Given the description of an element on the screen output the (x, y) to click on. 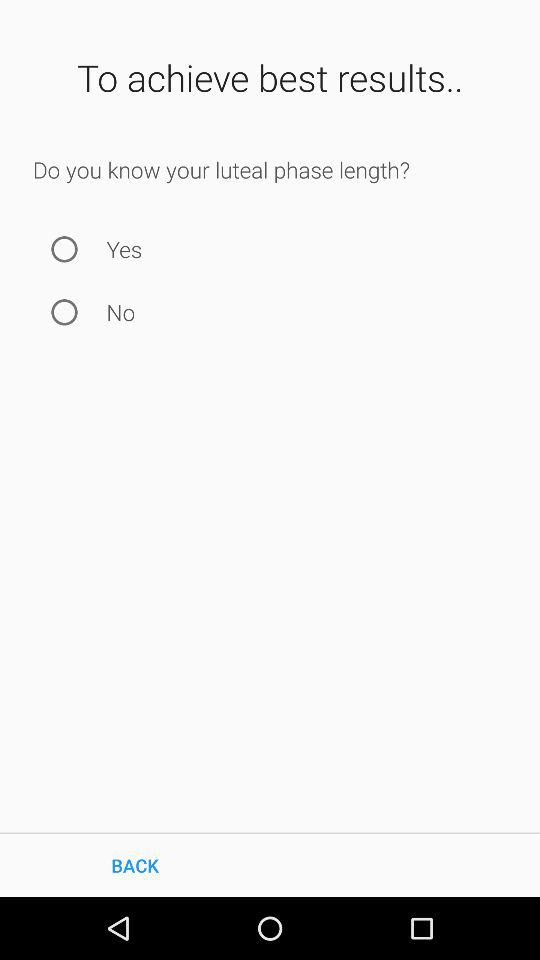
answer yes (64, 248)
